Given the description of an element on the screen output the (x, y) to click on. 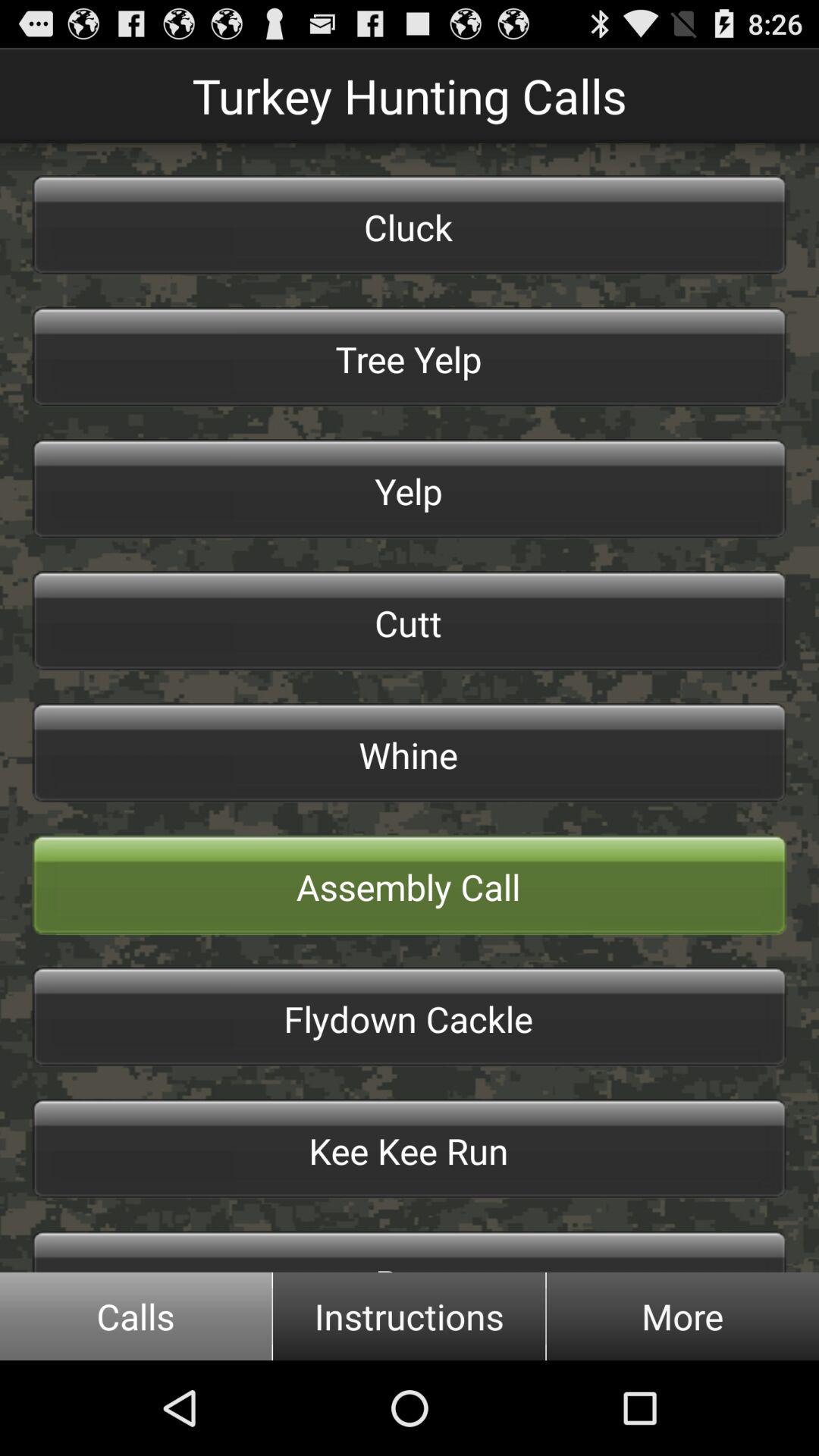
select the cutt button (409, 621)
